Given the description of an element on the screen output the (x, y) to click on. 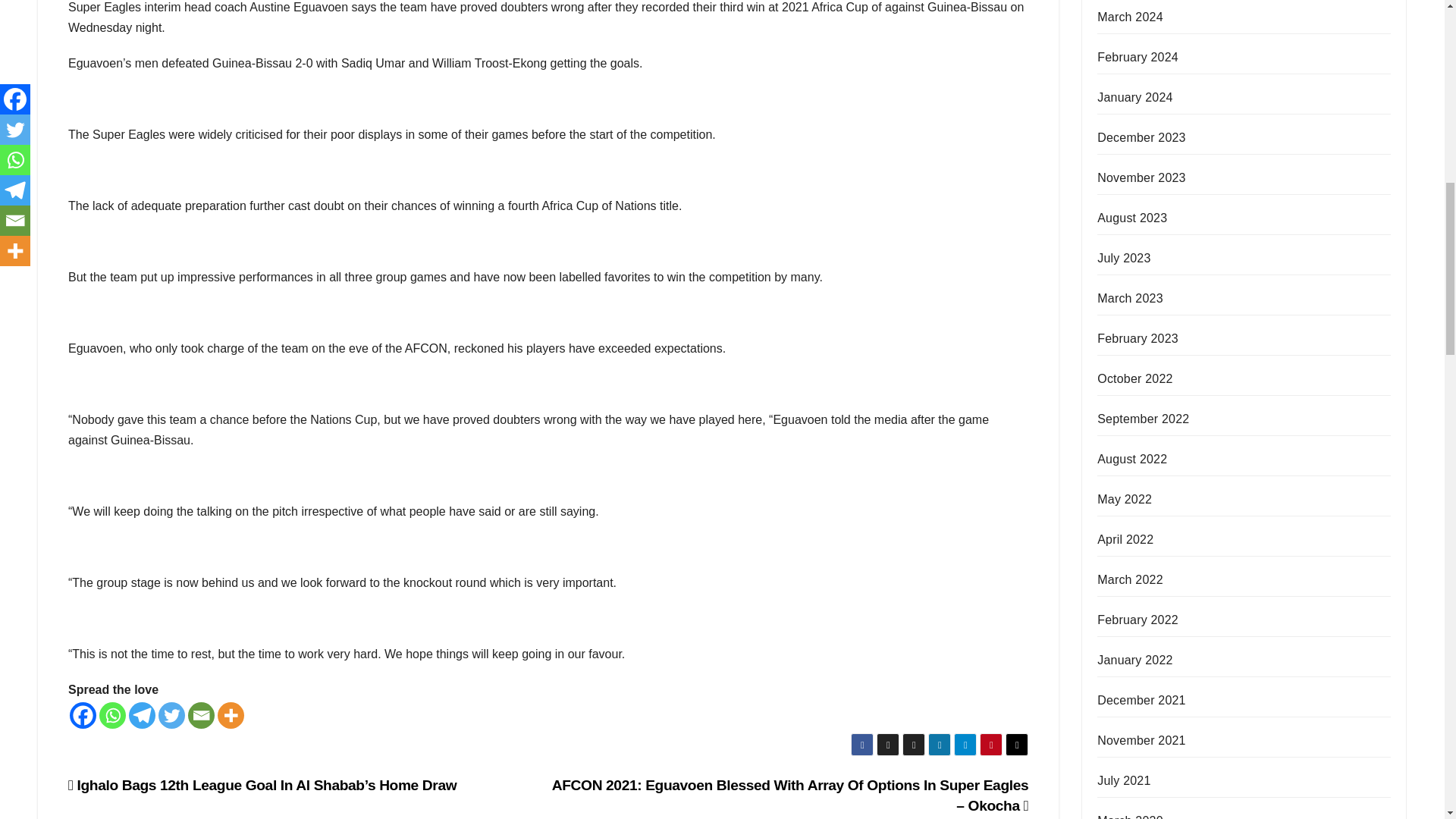
Email (200, 714)
More (230, 714)
Twitter (171, 714)
Facebook (82, 714)
Telegram (142, 714)
Whatsapp (112, 714)
